Given the description of an element on the screen output the (x, y) to click on. 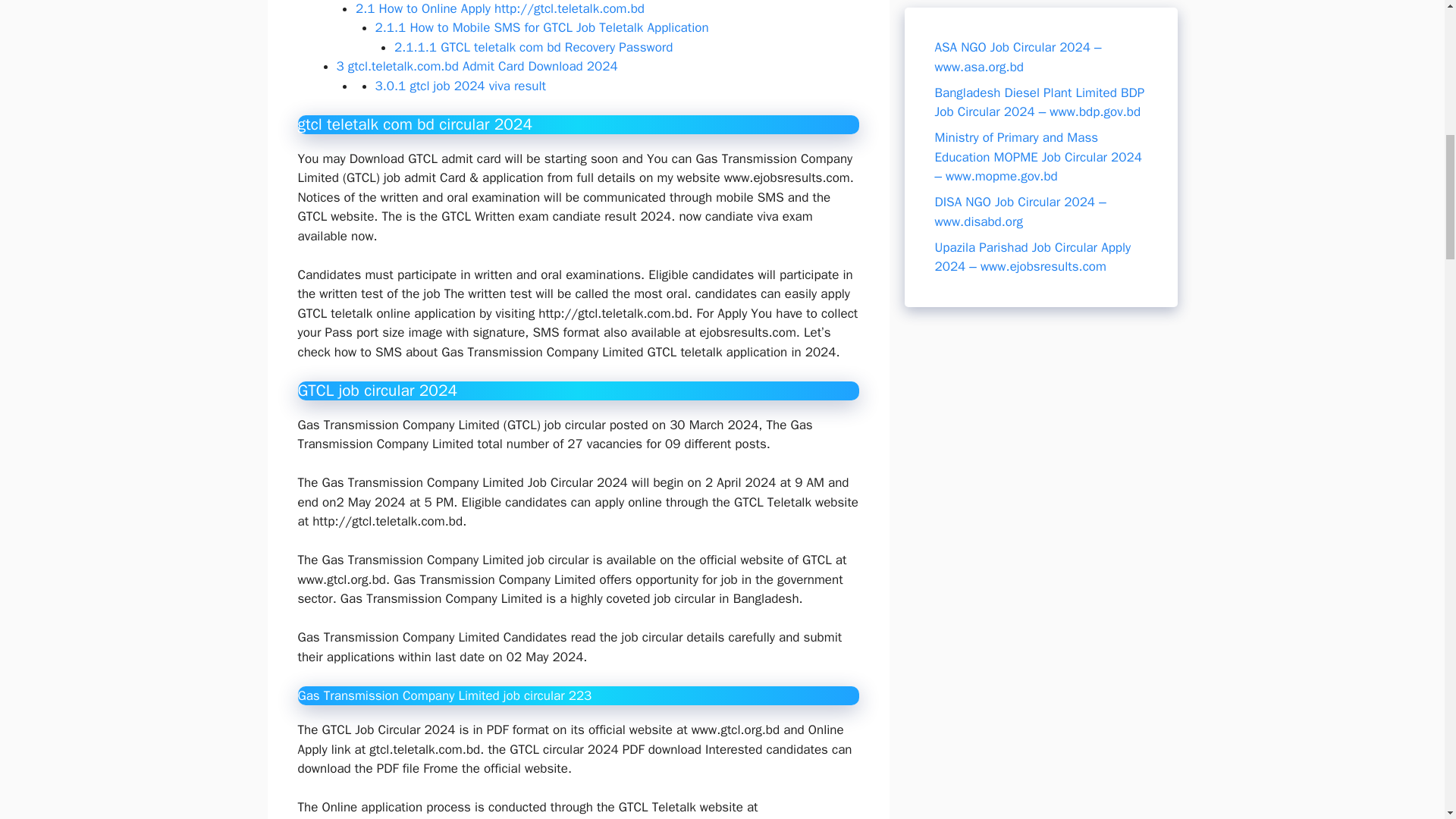
Scroll back to top (1406, 720)
3.0.1 gtcl job 2024 viva result (460, 85)
3 gtcl.teletalk.com.bd Admit Card Download 2024 (476, 66)
2.1.1.1 GTCL teletalk com bd Recovery Password (533, 47)
2.1.1 How to Mobile SMS for GTCL Job Teletalk Application (540, 27)
